Given the description of an element on the screen output the (x, y) to click on. 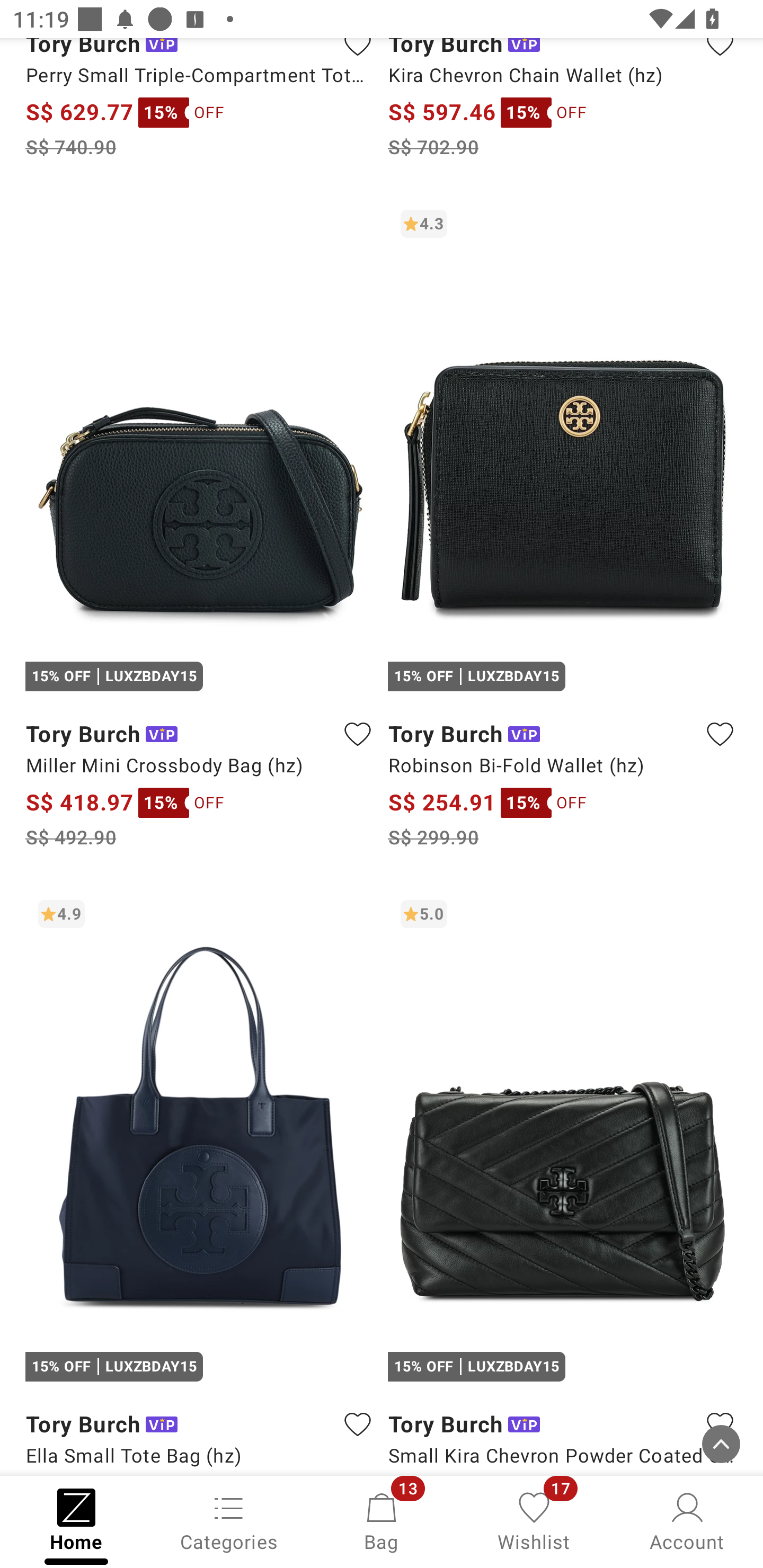
Categories (228, 1519)
Bag, 13 new notifications Bag (381, 1519)
Wishlist, 17 new notifications Wishlist (533, 1519)
Account (686, 1519)
